Given the description of an element on the screen output the (x, y) to click on. 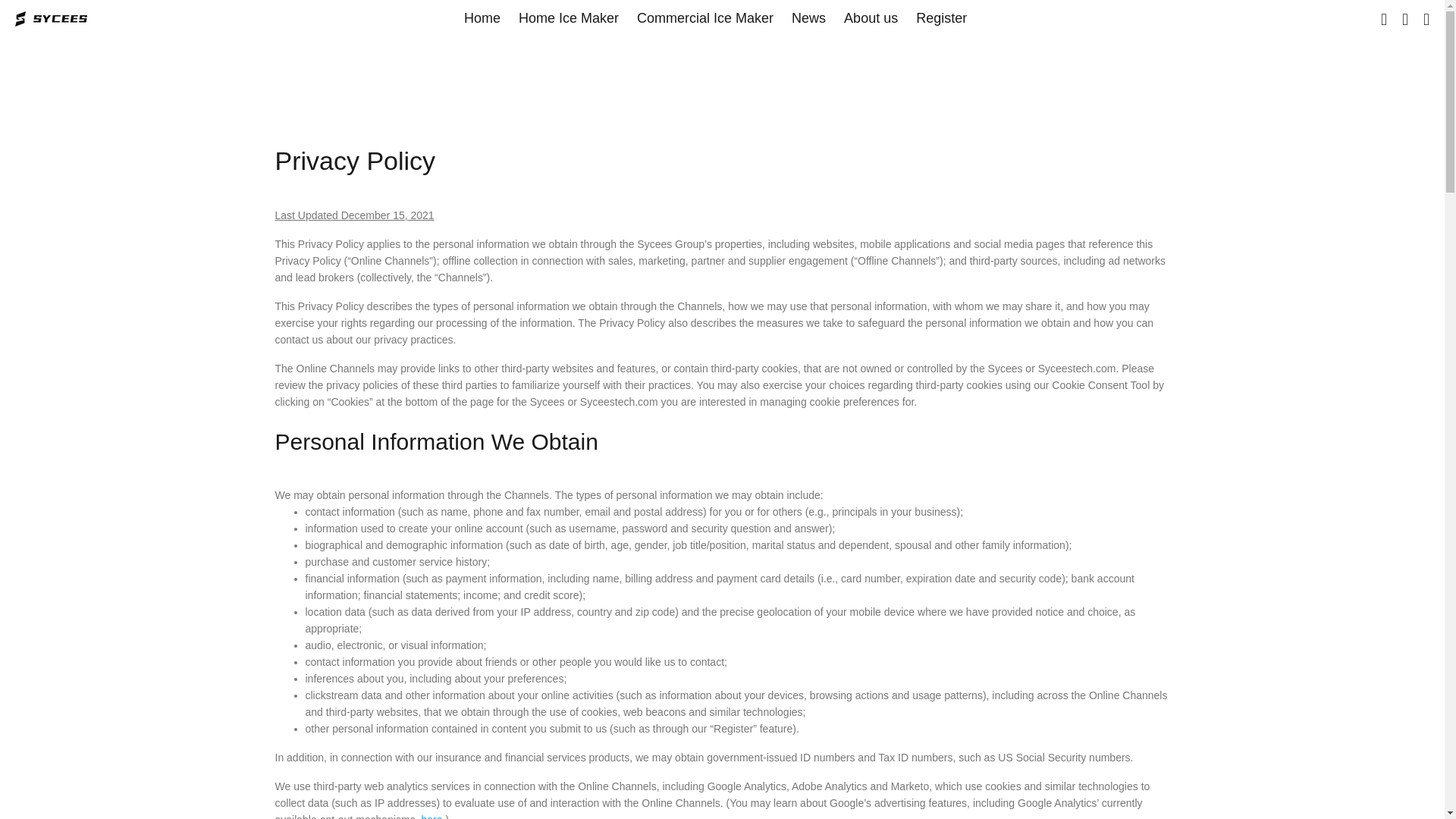
Opens in a new browser tab. (432, 816)
Register (936, 18)
News (808, 18)
Home Ice Maker (568, 18)
here (432, 816)
Commercial Ice Maker (705, 18)
About us (870, 18)
Home (481, 18)
